Given the description of an element on the screen output the (x, y) to click on. 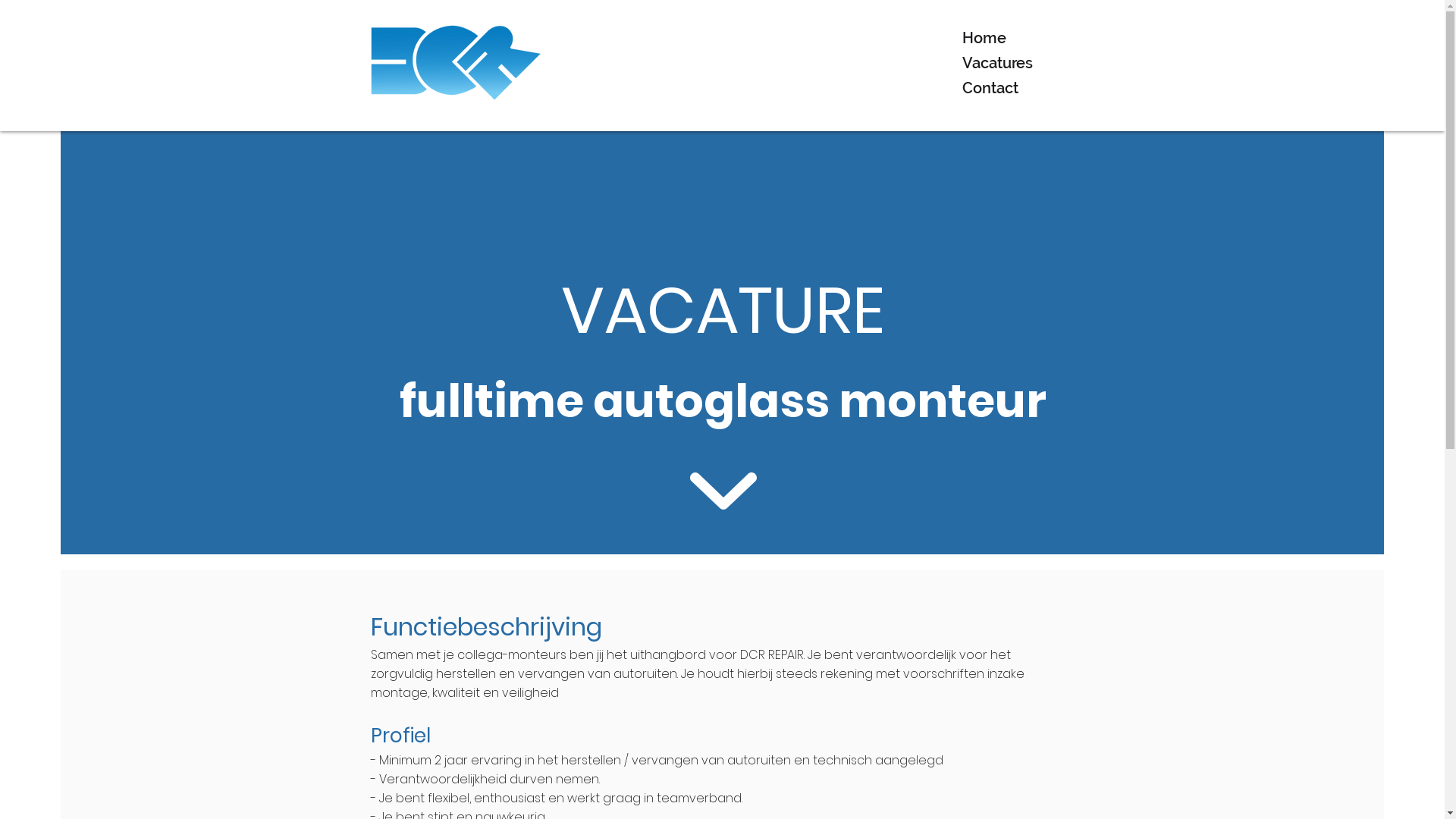
Home Element type: text (1027, 37)
Vacatures Element type: text (1027, 62)
Contact Element type: text (1027, 87)
